Given the description of an element on the screen output the (x, y) to click on. 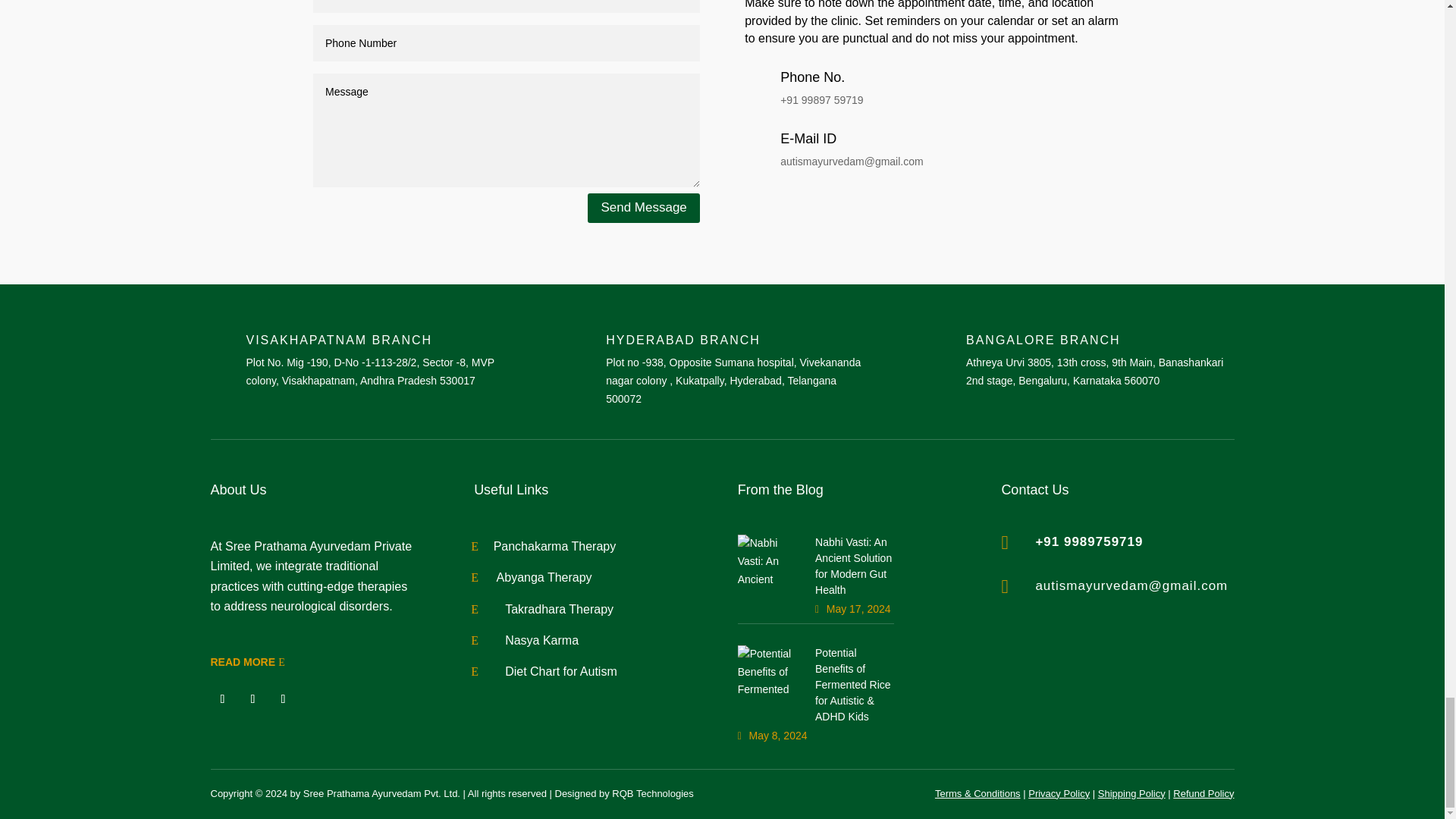
Follow on Instagram (252, 699)
Follow on Facebook (222, 699)
Follow on Youtube (282, 699)
